Given the description of an element on the screen output the (x, y) to click on. 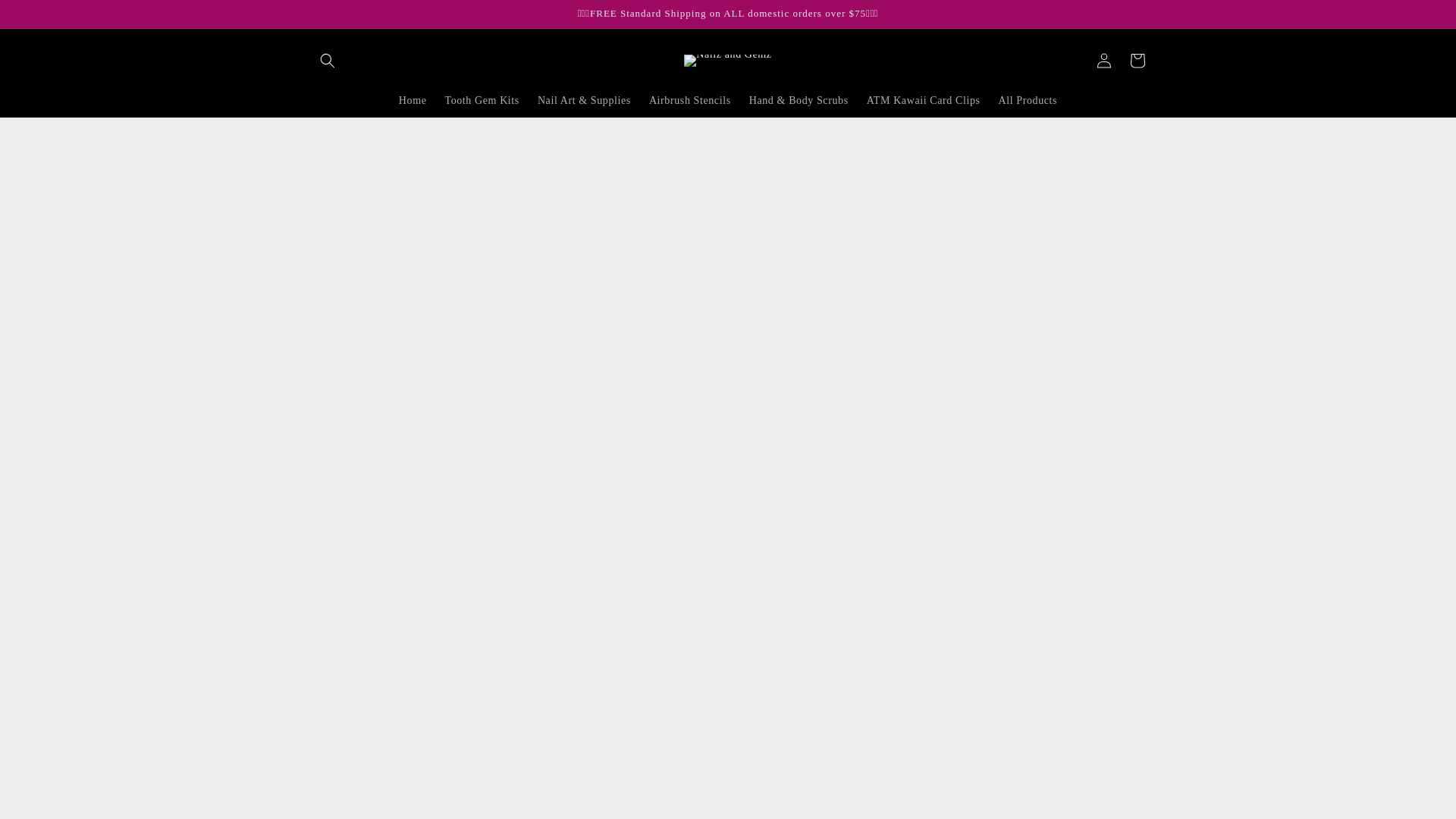
Skip to content (45, 17)
Tooth Gem Kits (481, 101)
Cart (1137, 60)
Airbrush Stencils (689, 101)
Log in (1104, 60)
ATM Kawaii Card Clips (923, 101)
All Products (1028, 101)
Home (412, 101)
